Given the description of an element on the screen output the (x, y) to click on. 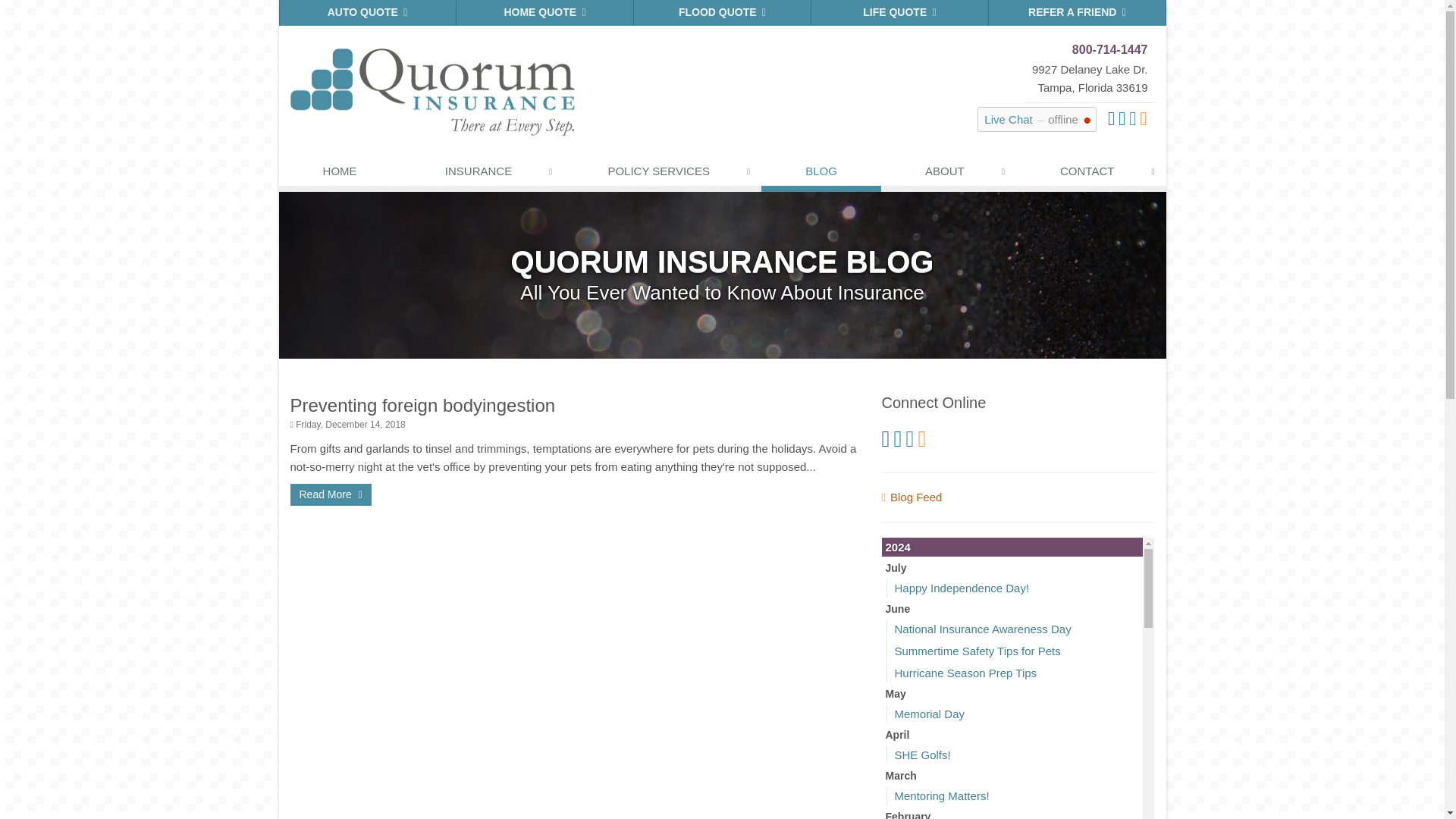
AUTO QUOTE (368, 12)
FLOOD QUOTE (721, 12)
HOME (340, 174)
INSURANCE (482, 174)
HOME QUOTE (545, 12)
